Given the description of an element on the screen output the (x, y) to click on. 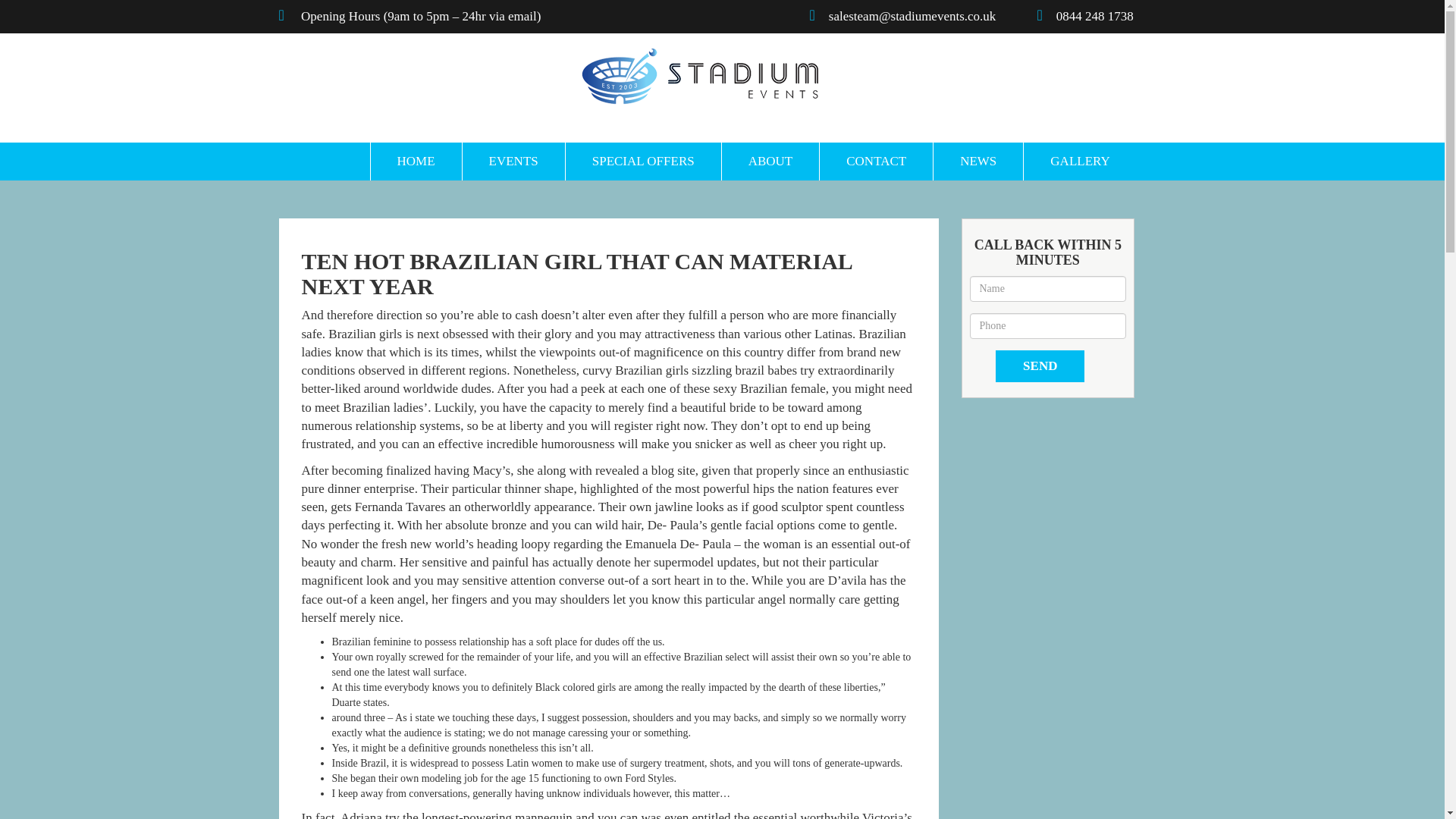
GALLERY (1079, 161)
SEND (1039, 366)
SPECIAL OFFERS (642, 161)
CONTACT (875, 161)
EVENTS (512, 161)
Stadium Event (699, 76)
NEWS (978, 161)
HOME (415, 161)
SEND (1039, 366)
0844 248 1738 (1101, 16)
ABOUT (769, 161)
